Given the description of an element on the screen output the (x, y) to click on. 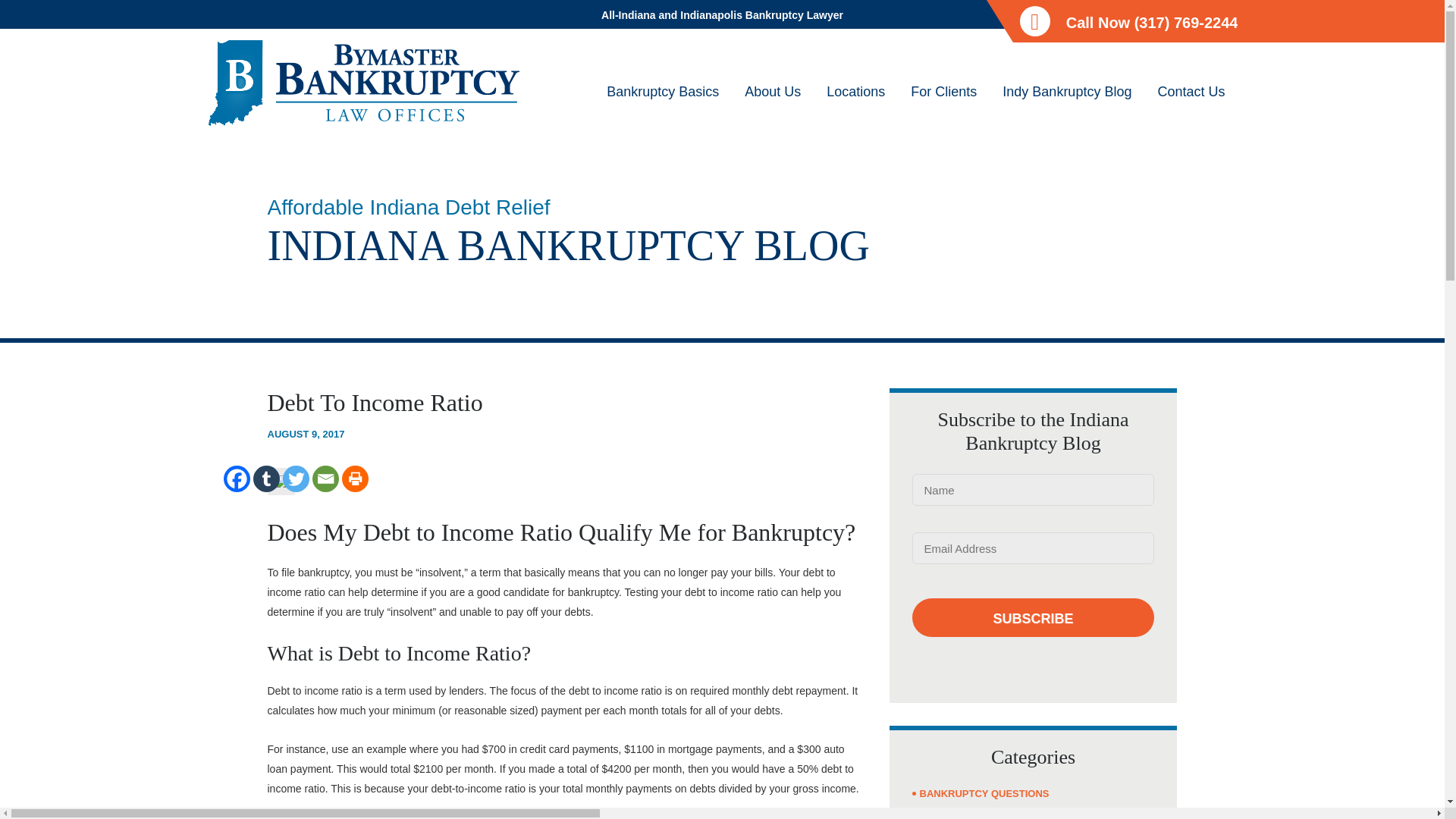
Subscribe (1032, 617)
About Us (772, 104)
Contact Us (1190, 104)
For Clients (944, 104)
Bankruptcy Basics (663, 104)
Indy Bankruptcy Blog (1067, 104)
About Us (772, 104)
Subscribe (1032, 617)
BANKRUPTCY QUESTIONS (983, 793)
For Clients (944, 104)
